Given the description of an element on the screen output the (x, y) to click on. 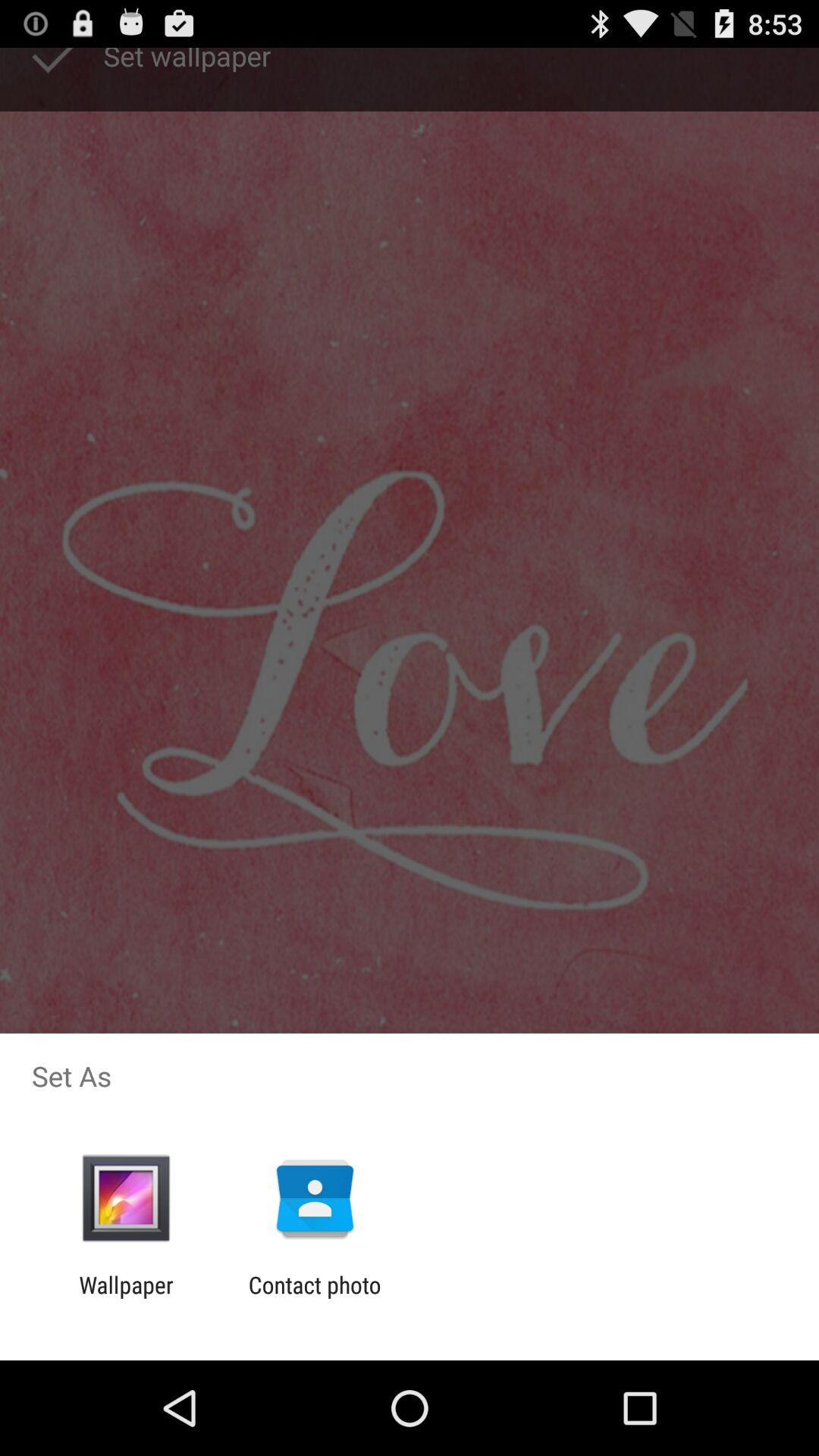
open the icon next to wallpaper icon (314, 1298)
